Given the description of an element on the screen output the (x, y) to click on. 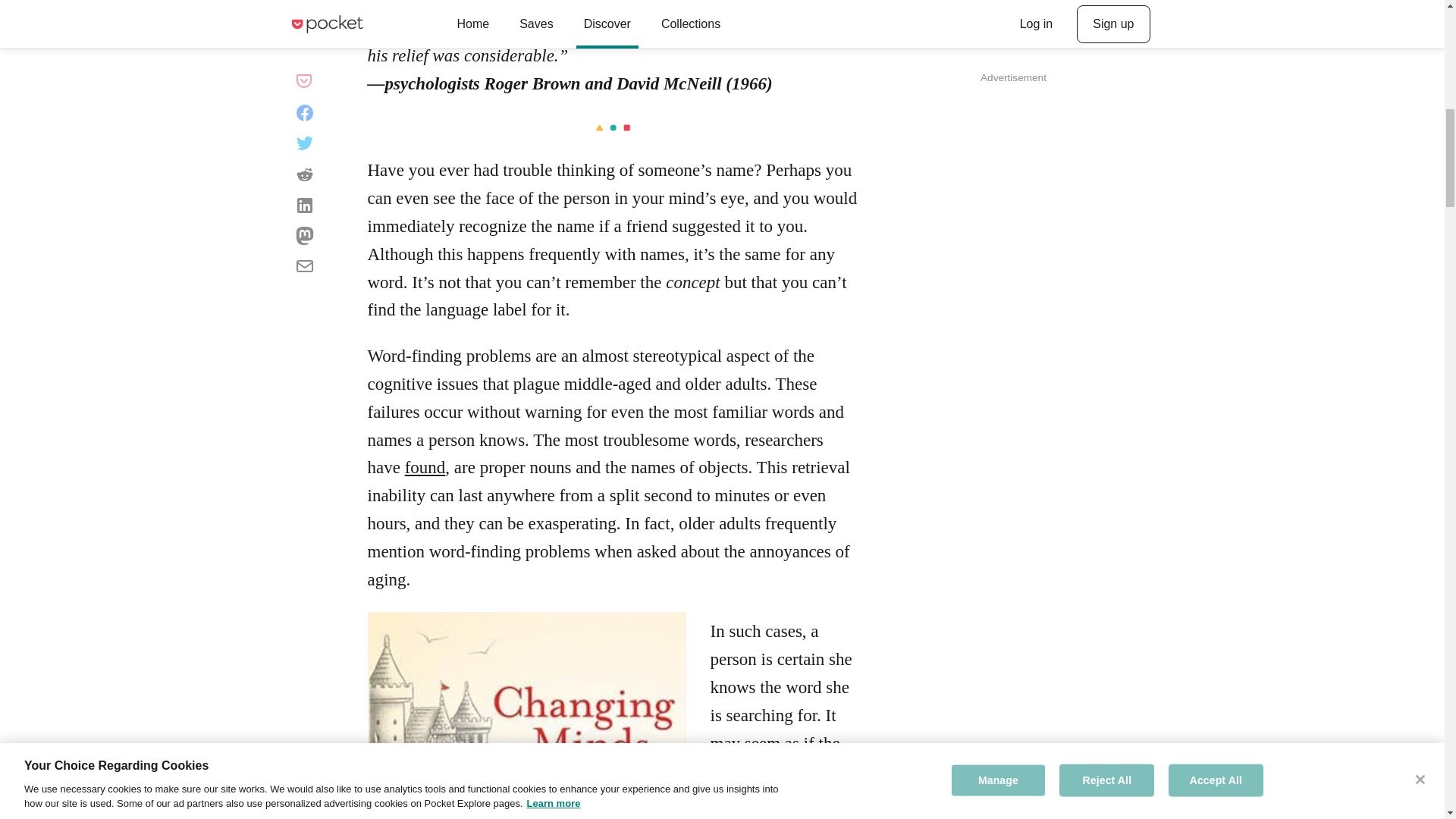
found (424, 466)
